Given the description of an element on the screen output the (x, y) to click on. 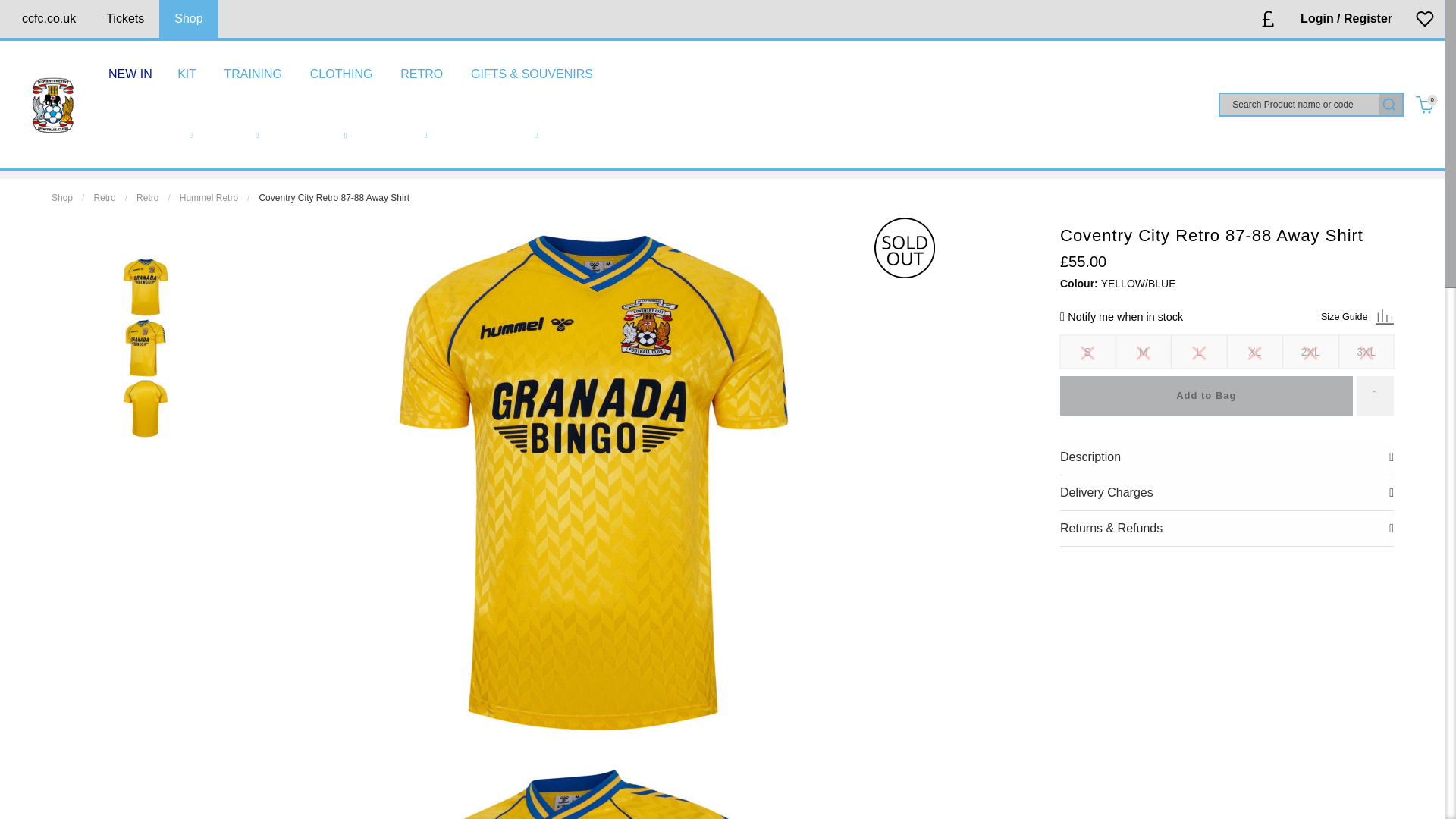
Add to Bag (1205, 395)
Description (1226, 457)
Delivery Charges (1226, 493)
